Given the description of an element on the screen output the (x, y) to click on. 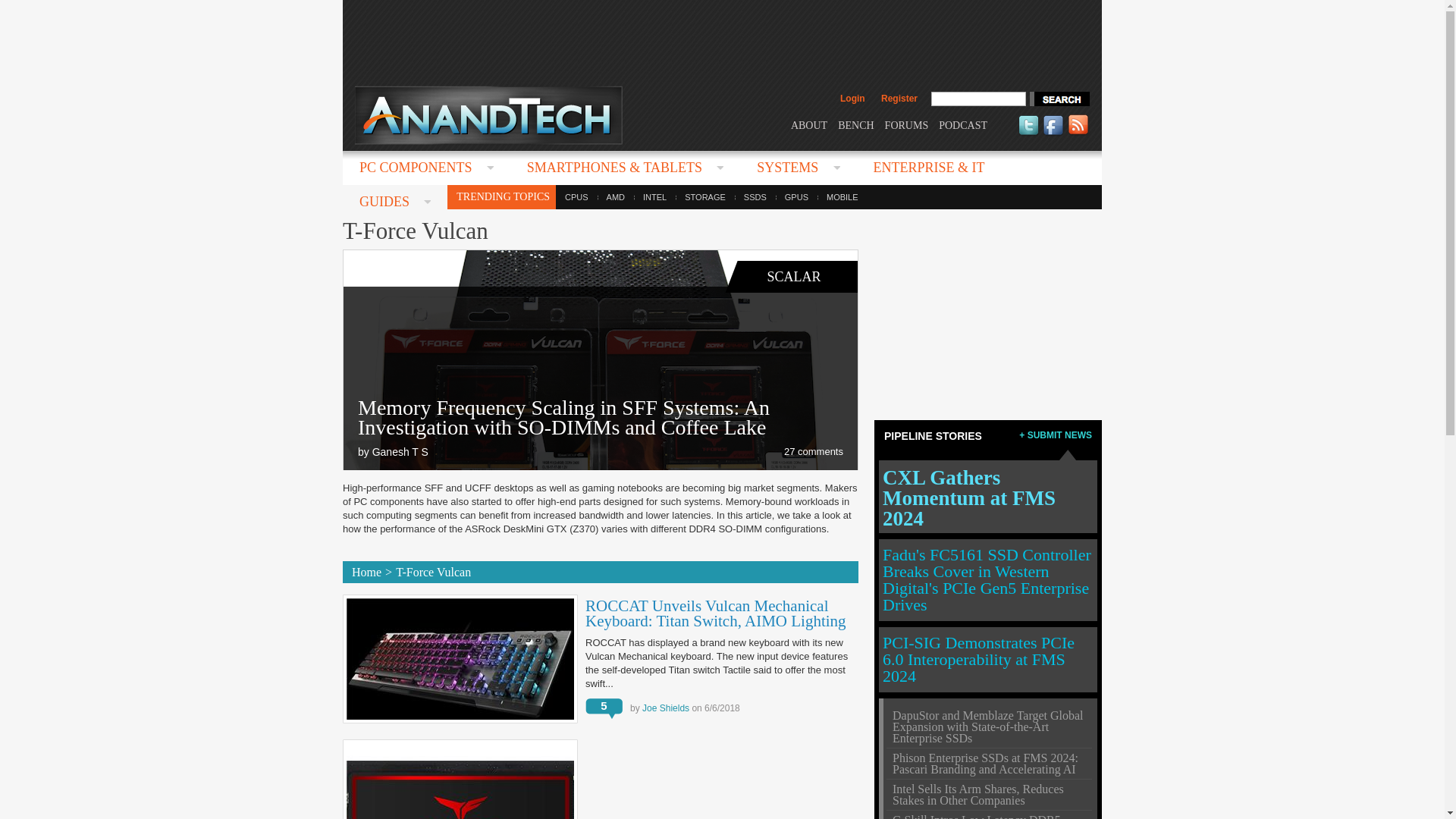
FORUMS (906, 125)
search (1059, 98)
ABOUT (808, 125)
BENCH (855, 125)
PODCAST (963, 125)
search (1059, 98)
Register (898, 98)
Login (852, 98)
search (1059, 98)
